Given the description of an element on the screen output the (x, y) to click on. 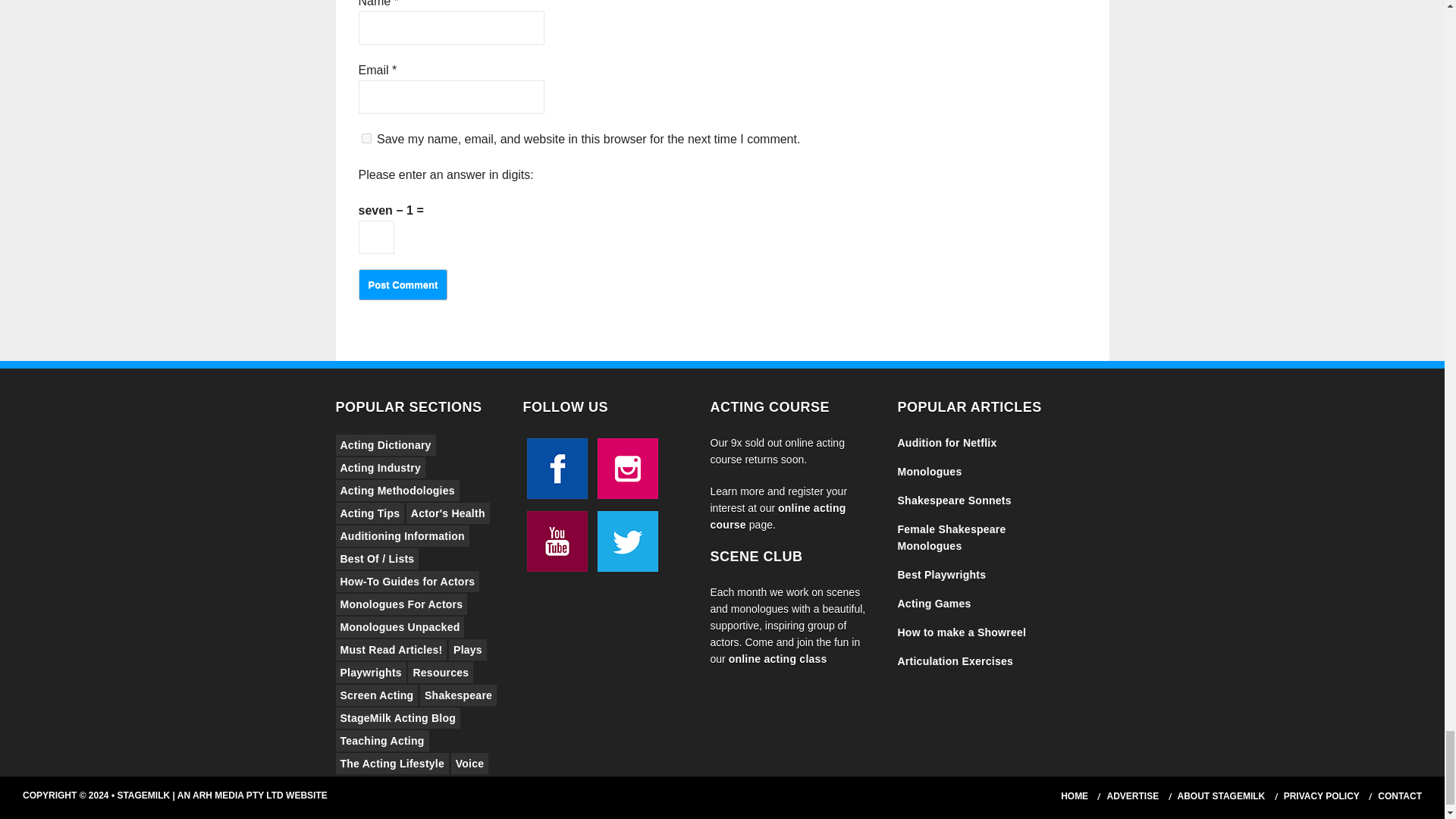
Post Comment (402, 284)
yes (366, 138)
